Given the description of an element on the screen output the (x, y) to click on. 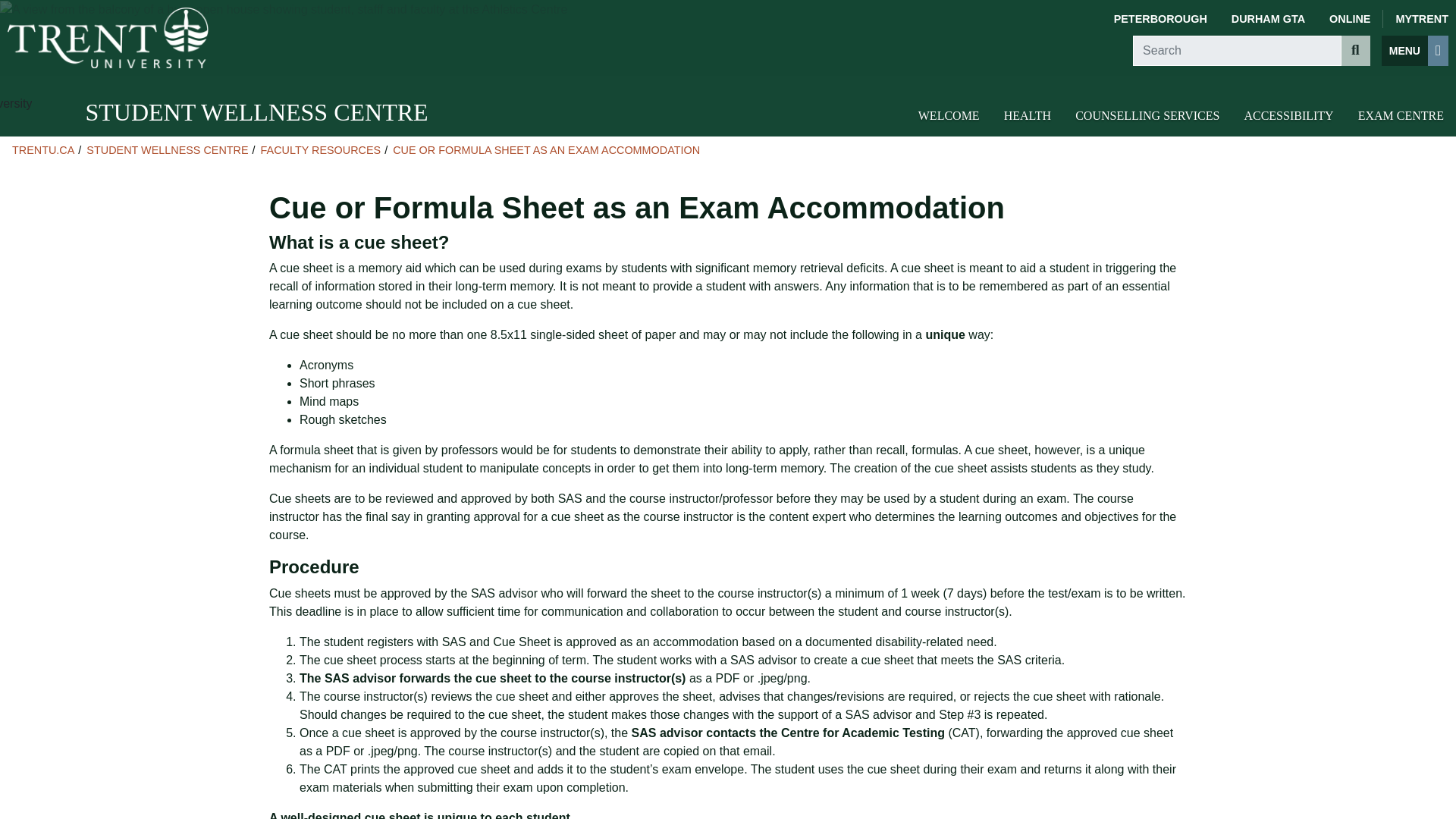
Home (107, 37)
Main Menu (1414, 51)
